Given the description of an element on the screen output the (x, y) to click on. 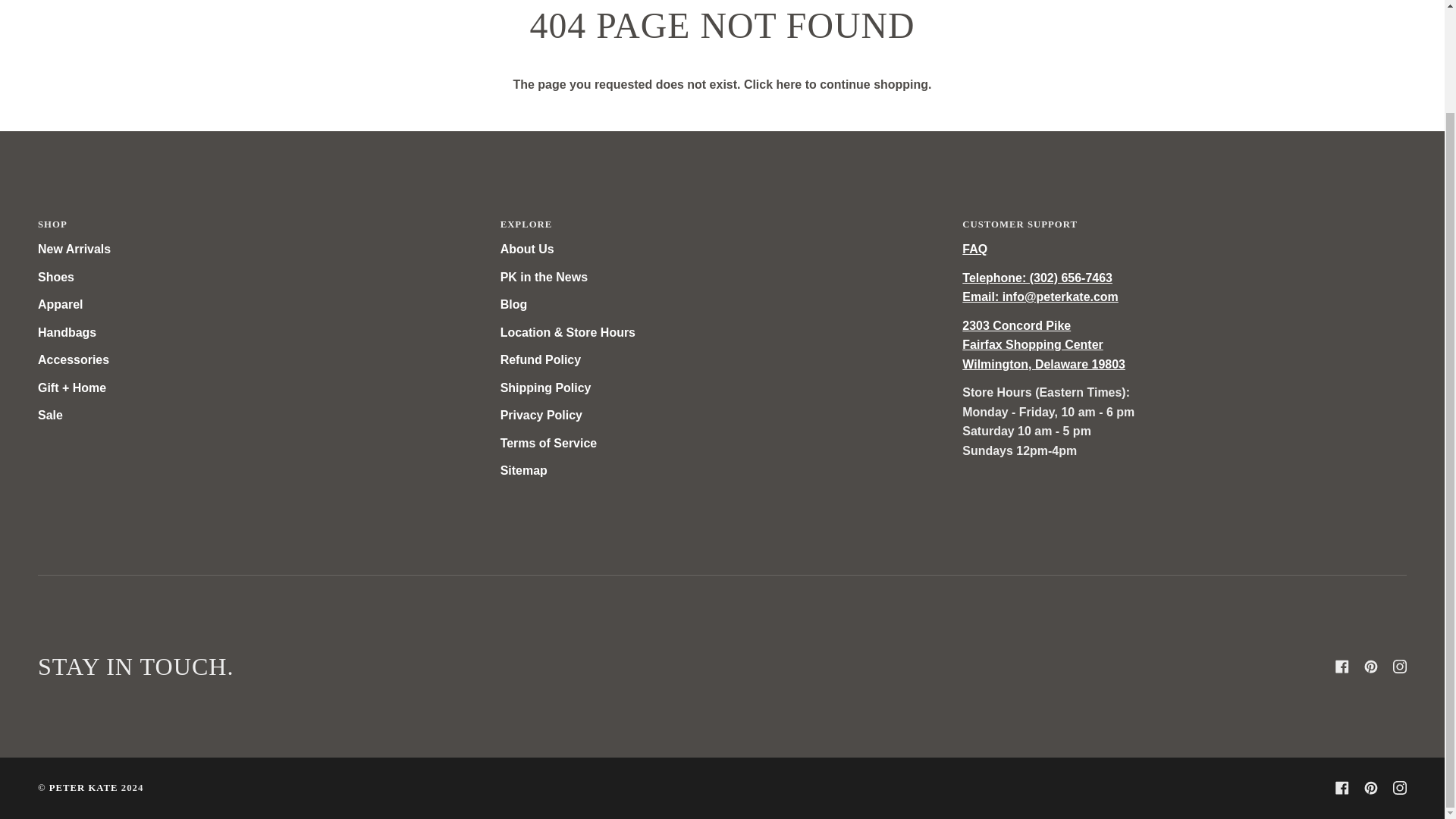
Facebook (1342, 787)
Pinterest (1370, 787)
Facebook (1342, 666)
Instagram (1399, 666)
Pinterest (1370, 666)
Instagram (1399, 787)
